Given the description of an element on the screen output the (x, y) to click on. 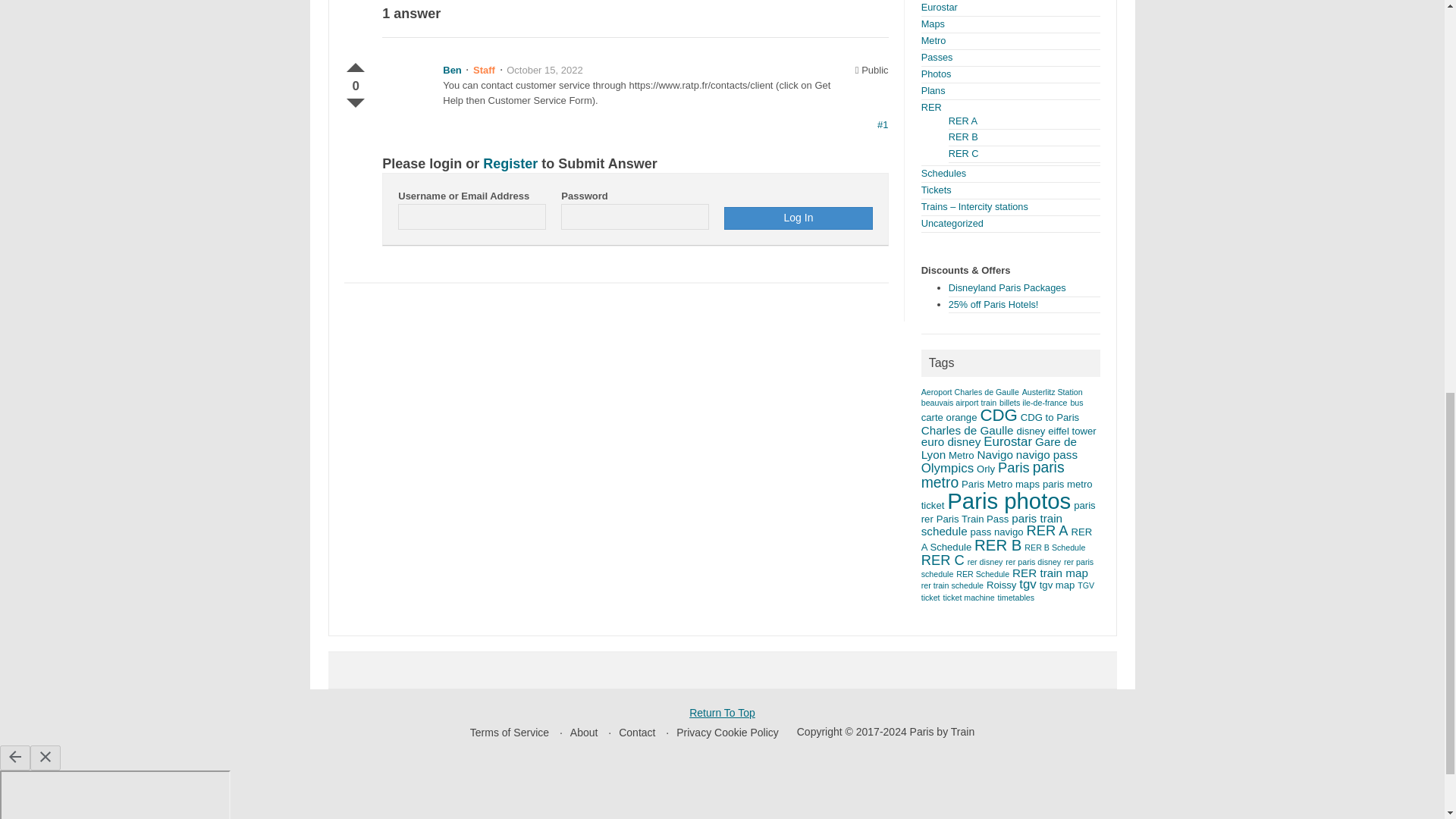
Register (510, 163)
Posts by Ben (451, 70)
Vote Down (354, 99)
October 15, 2022 (544, 70)
Log In (797, 218)
Ben (451, 70)
The answer link (882, 124)
Register (510, 163)
VOTE DOWN (354, 99)
VOTE UP (354, 64)
Vote Up (354, 64)
